Given the description of an element on the screen output the (x, y) to click on. 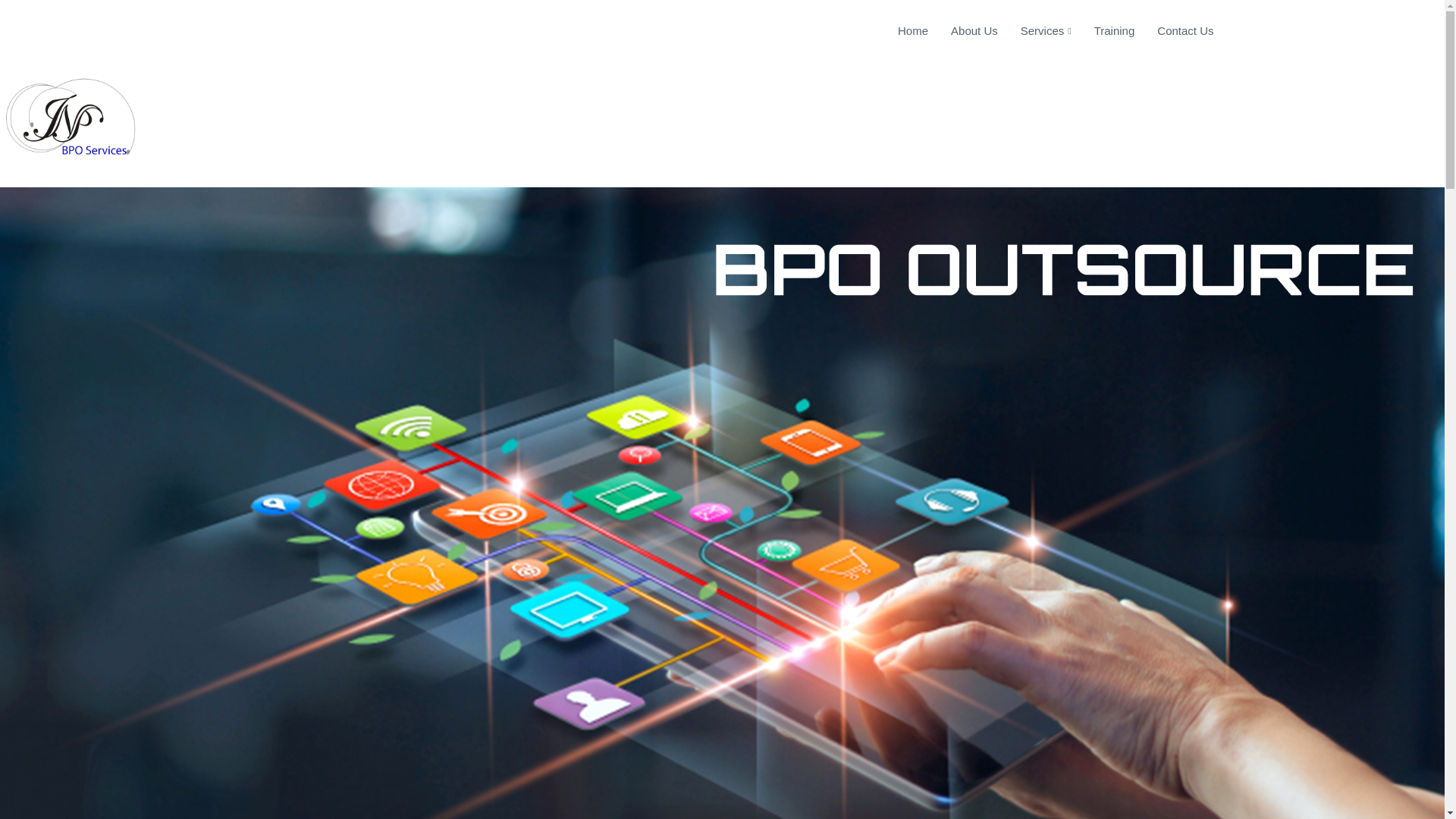
Home (901, 31)
Training (1103, 31)
Contact Us (1173, 31)
About Us (962, 31)
Services (1034, 31)
